Given the description of an element on the screen output the (x, y) to click on. 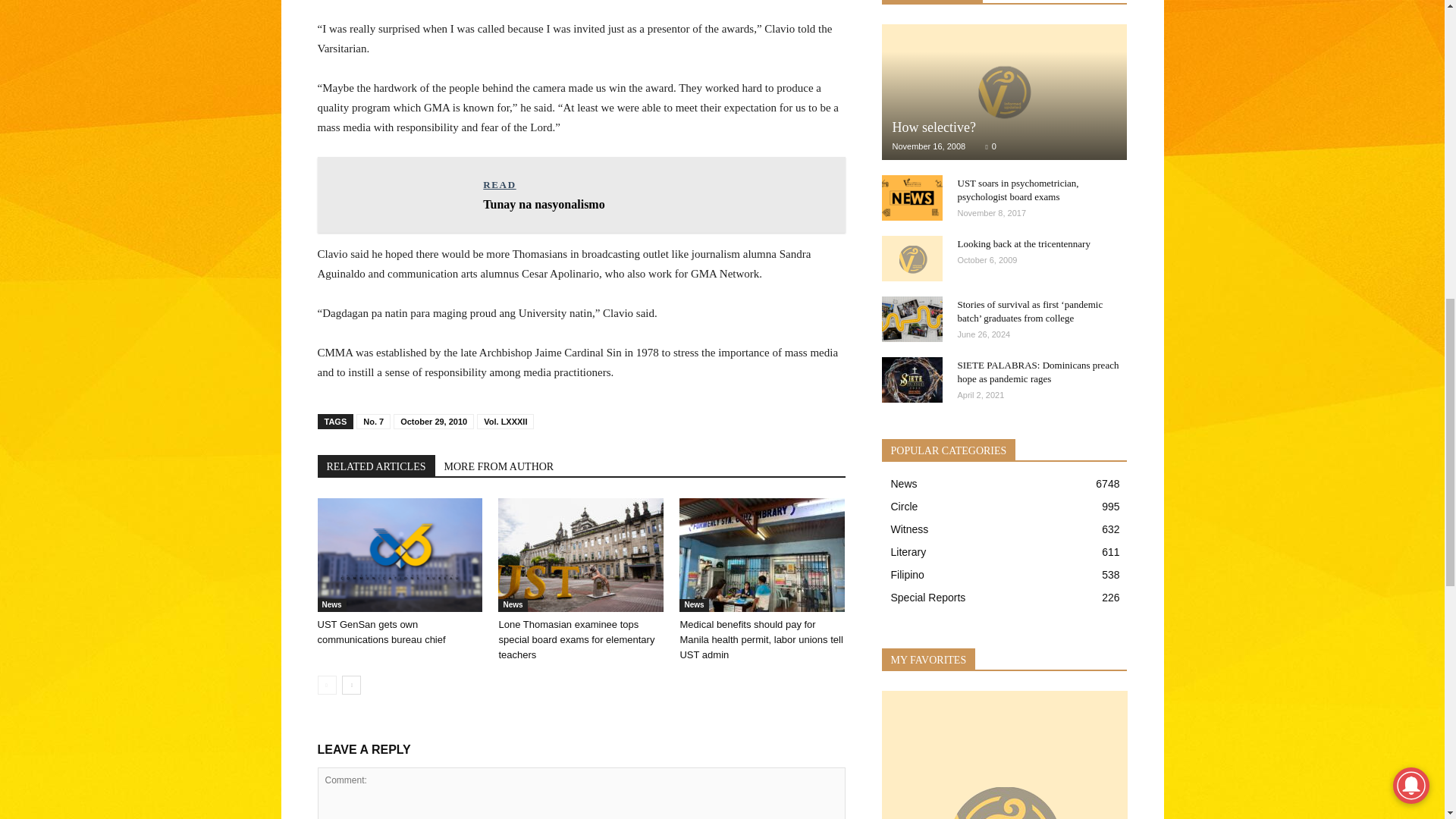
UST GenSan gets own communications bureau chief (399, 554)
UST GenSan gets own communications bureau chief (381, 632)
